Given the description of an element on the screen output the (x, y) to click on. 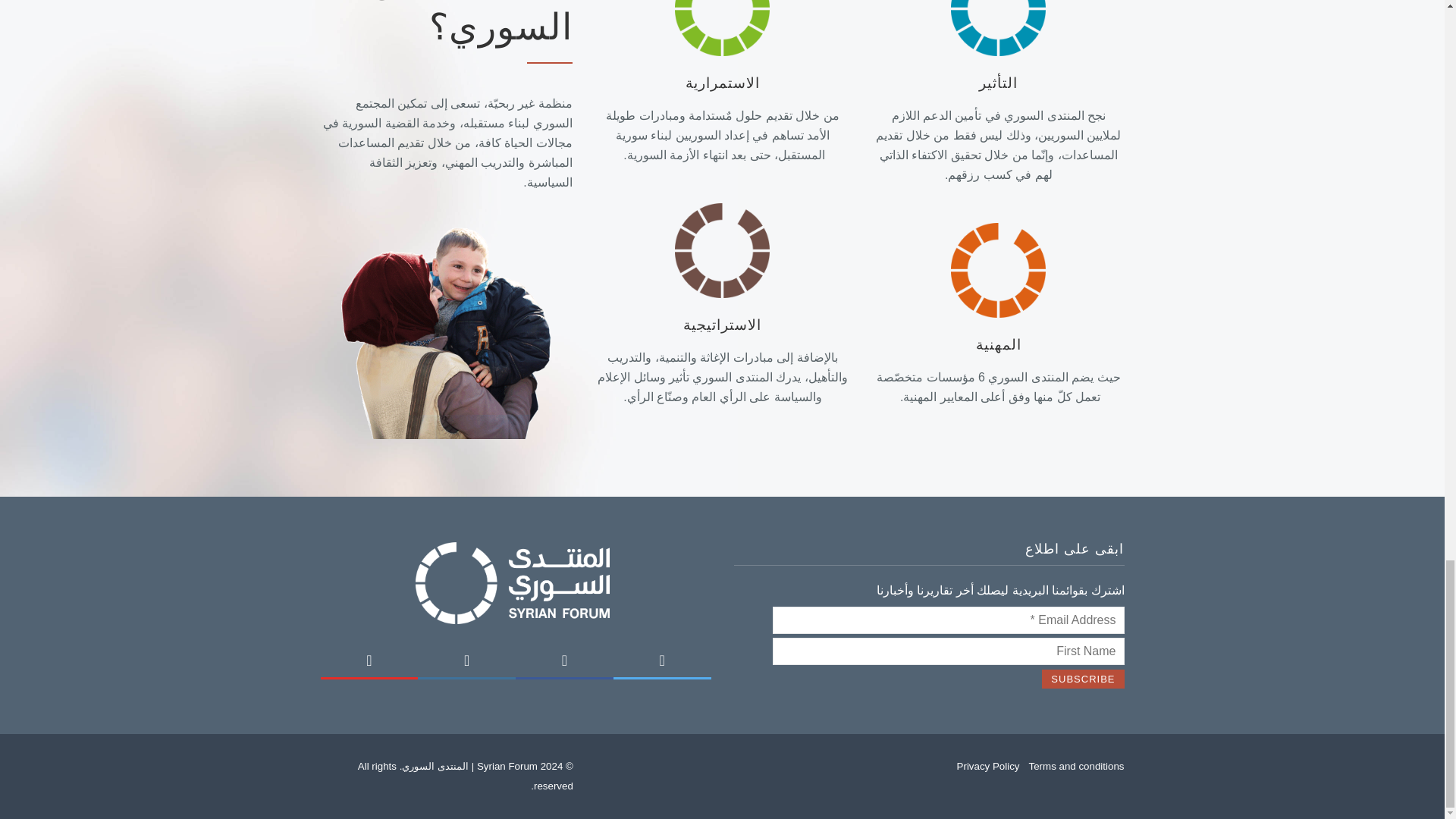
First Name (948, 651)
Subscribe (1083, 678)
